Given the description of an element on the screen output the (x, y) to click on. 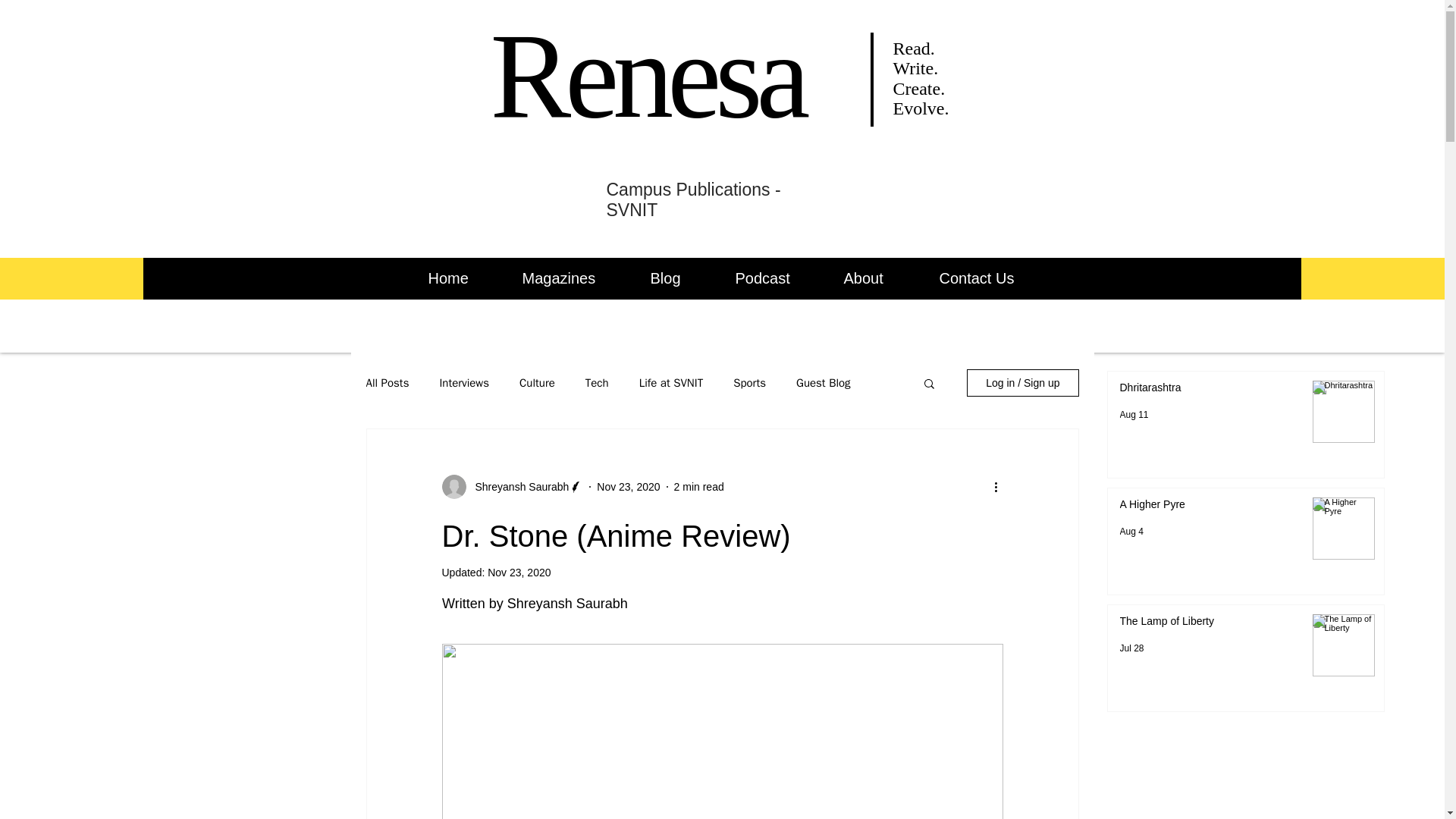
Guest Blog (823, 382)
Shreyansh Saurabh (517, 487)
Aug 11 (1133, 414)
Tech (596, 382)
Podcast (777, 278)
2 min read (698, 486)
About (880, 278)
Nov 23, 2020 (627, 486)
All Posts (387, 382)
Blog (681, 278)
